Given the description of an element on the screen output the (x, y) to click on. 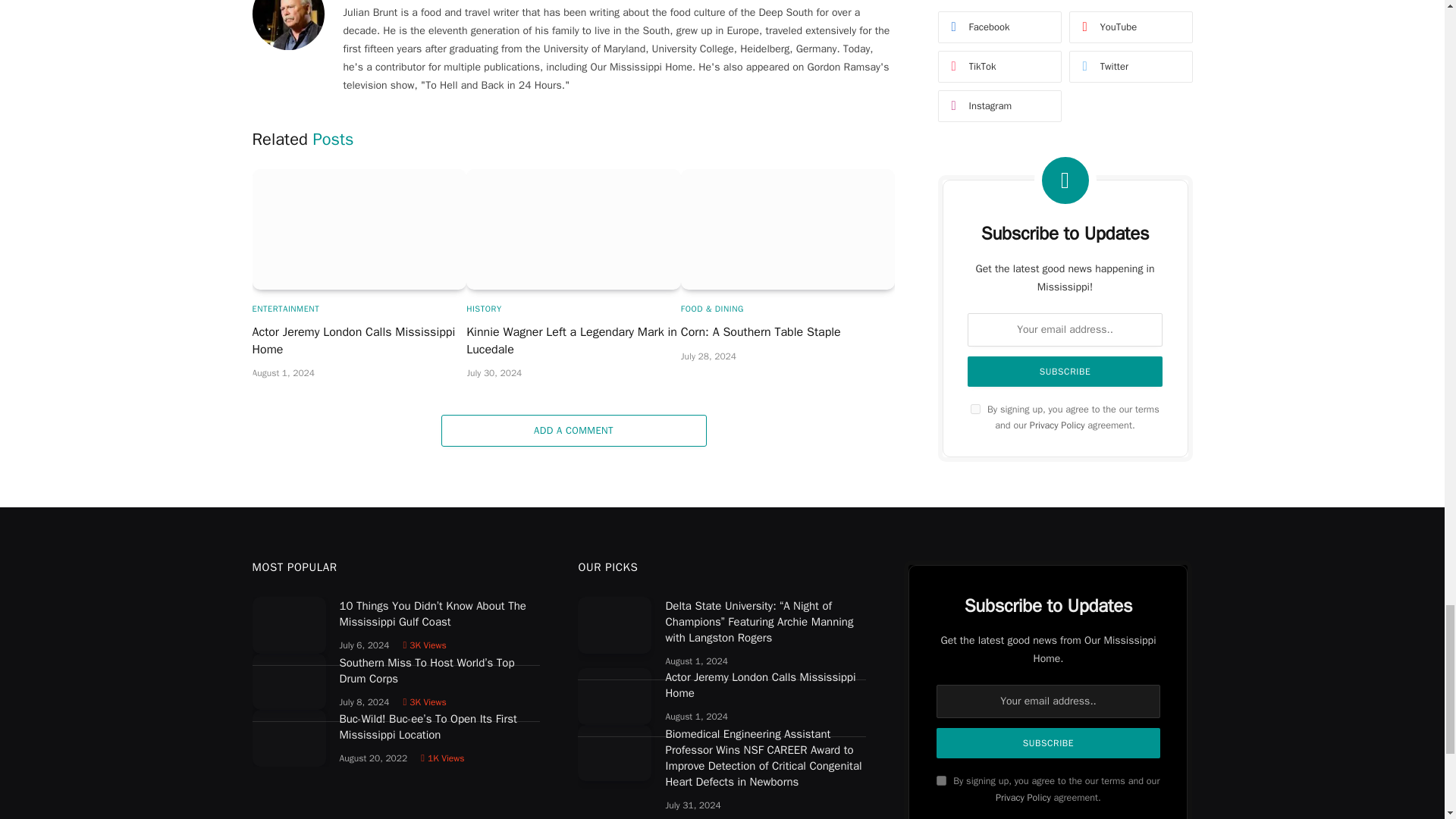
on (941, 780)
Subscribe (1047, 743)
